Given the description of an element on the screen output the (x, y) to click on. 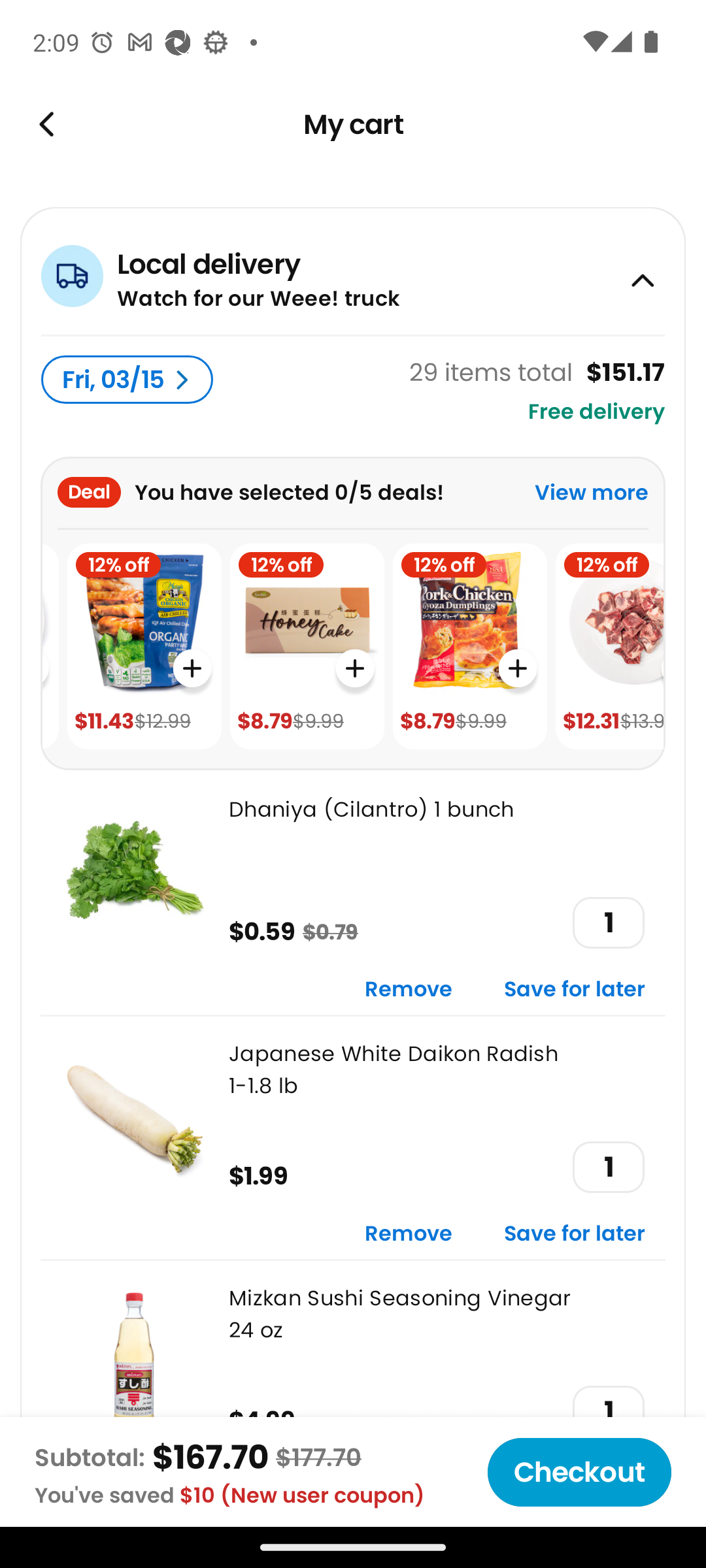
Local delivery Watch for our Weee! truck (352, 269)
Fri, 03/15 (126, 379)
12% off $11.43 $12.99 (144, 646)
12% off $8.79 $9.99 (307, 646)
12% off $8.79 $9.99 (469, 646)
12% off $12.31 $13.99 (609, 646)
1 (608, 922)
Remove (408, 989)
Save for later (574, 989)
1 (608, 1167)
Remove (408, 1234)
Save for later (574, 1234)
Checkout (579, 1471)
